Given the description of an element on the screen output the (x, y) to click on. 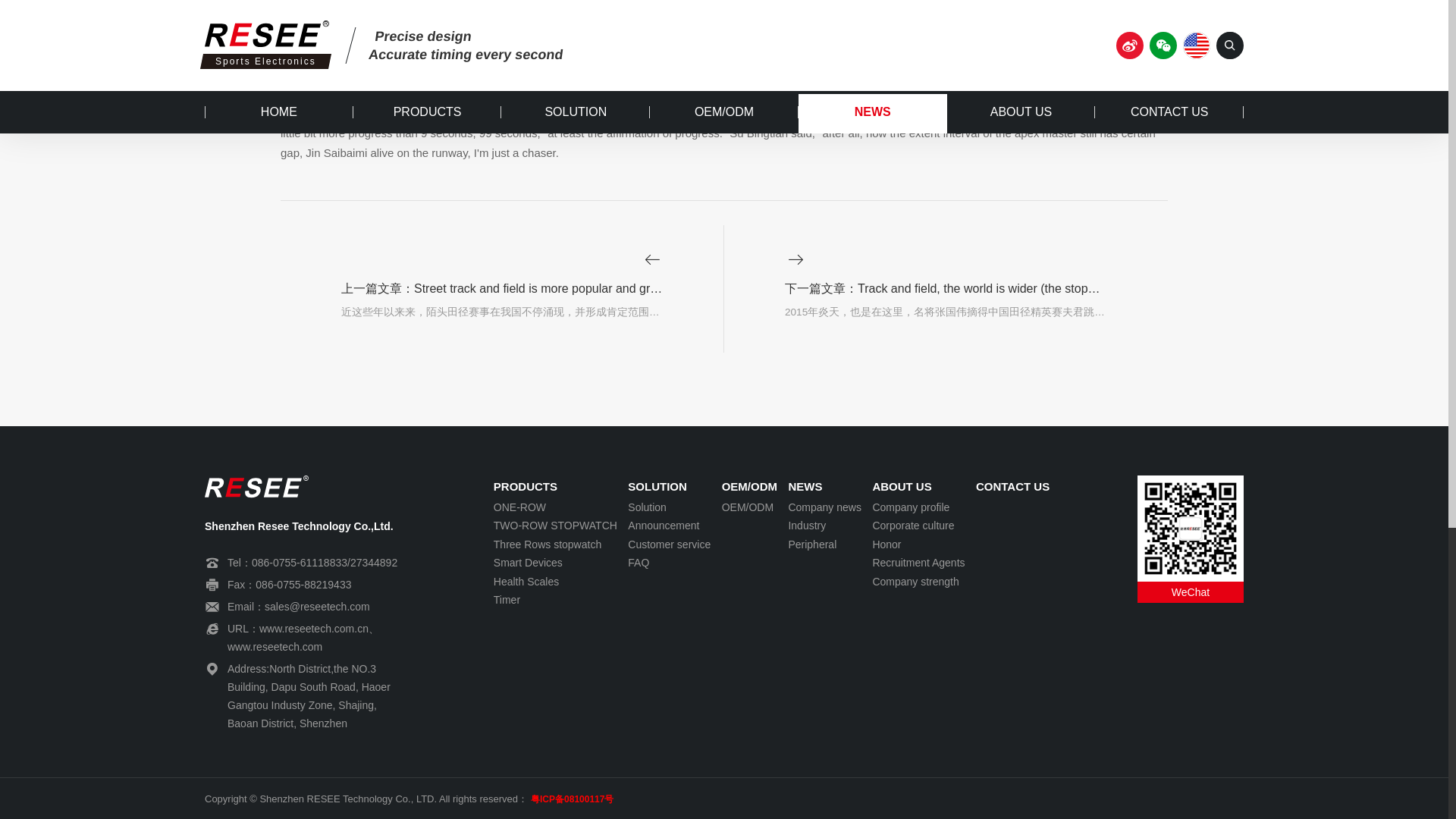
TWO-ROW STOPWATCH (555, 525)
Smart Devices (555, 562)
PRODUCTS (555, 486)
Three Rows stopwatch (555, 544)
ONE-ROW (555, 506)
